Given the description of an element on the screen output the (x, y) to click on. 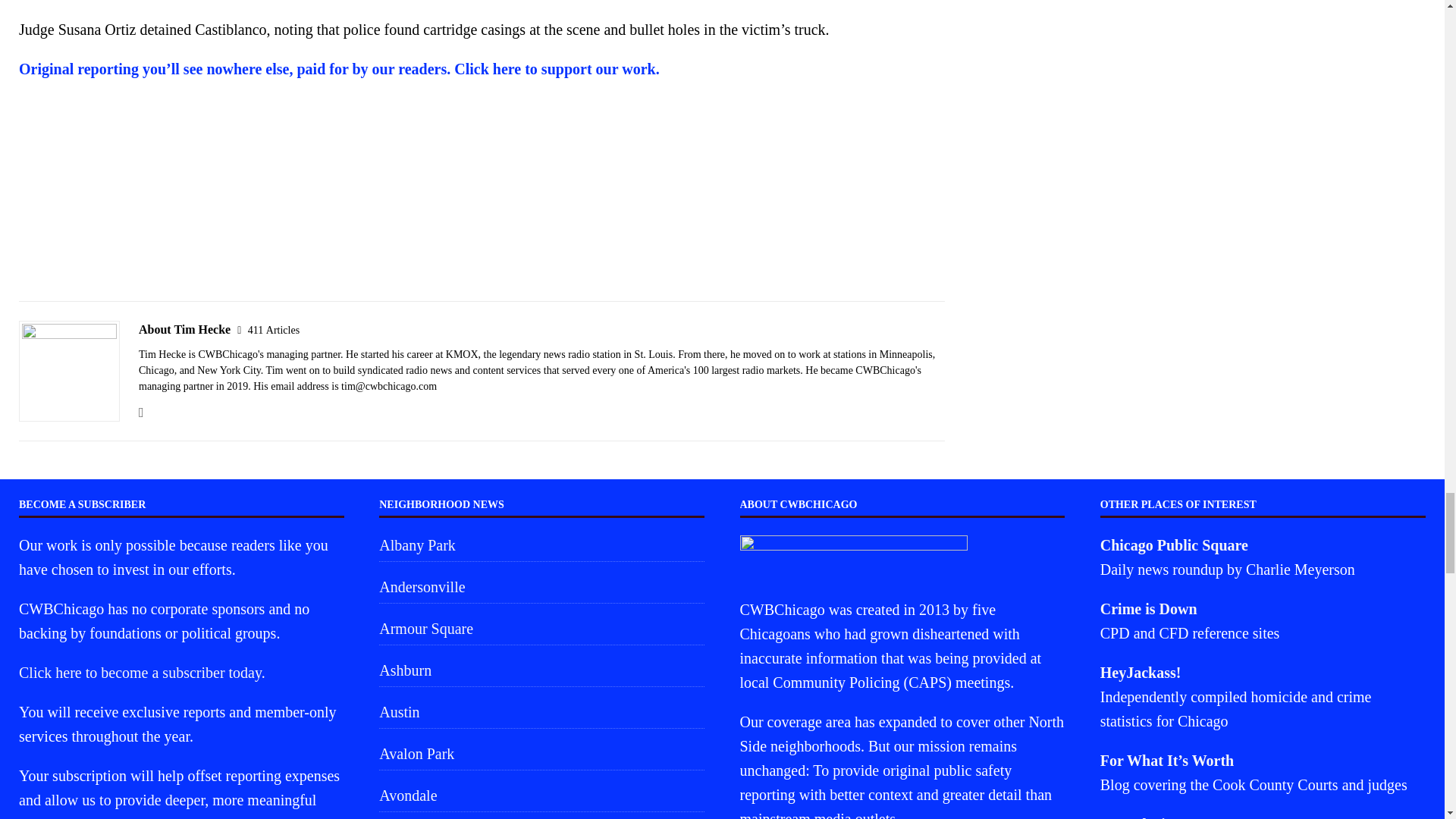
Andersonville (541, 586)
Albany Park (541, 547)
Click here to support our work. (556, 68)
Ashburn (541, 670)
More articles written by Tim Hecke' (273, 329)
411 Articles (273, 329)
Armour Square (541, 628)
Austin (541, 712)
Click here to become a subscriber today. (141, 672)
